Given the description of an element on the screen output the (x, y) to click on. 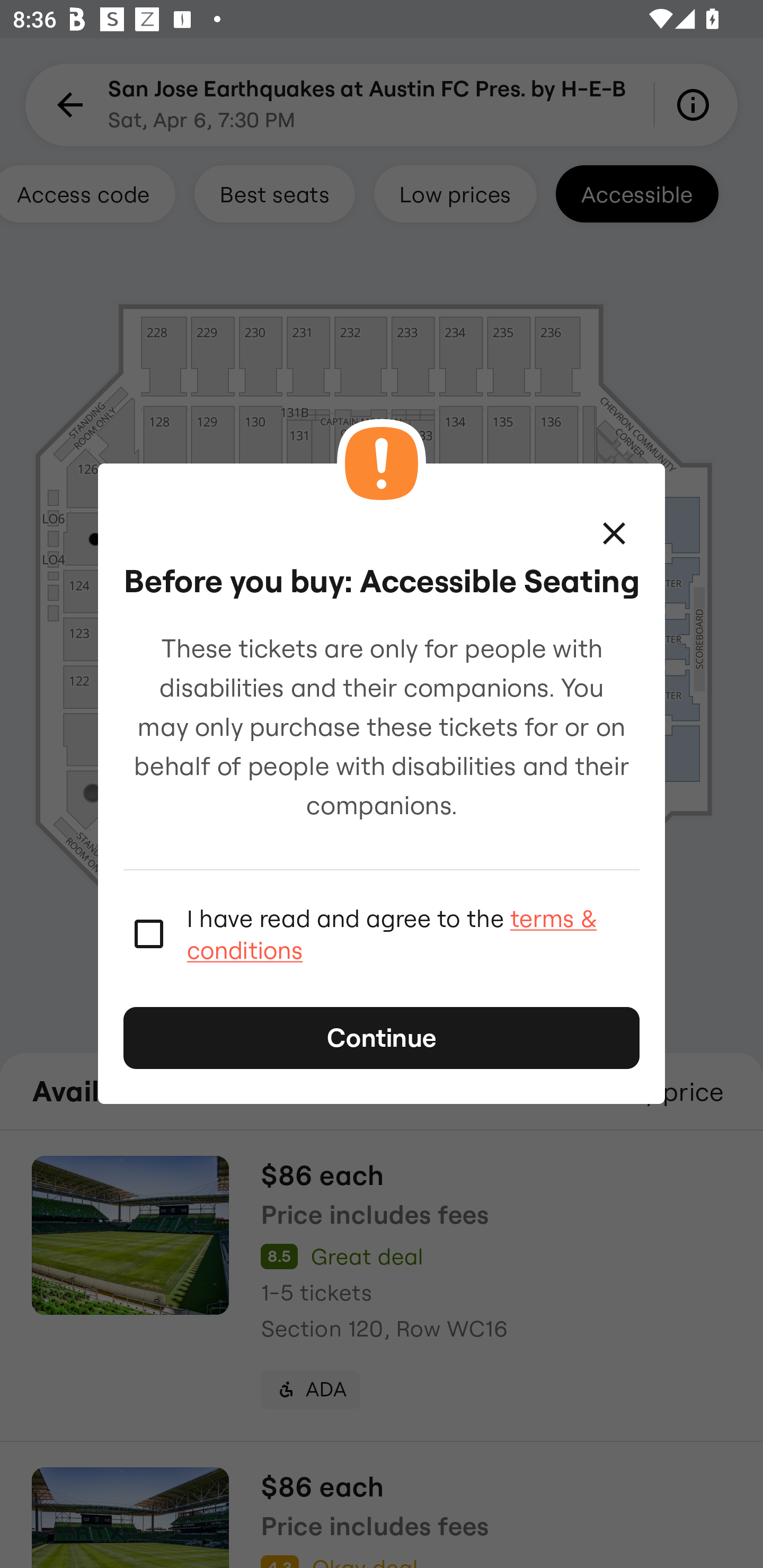
Close this modal (614, 533)
I have read and agree to the terms & conditions (412, 933)
Continue (381, 1037)
